Given the description of an element on the screen output the (x, y) to click on. 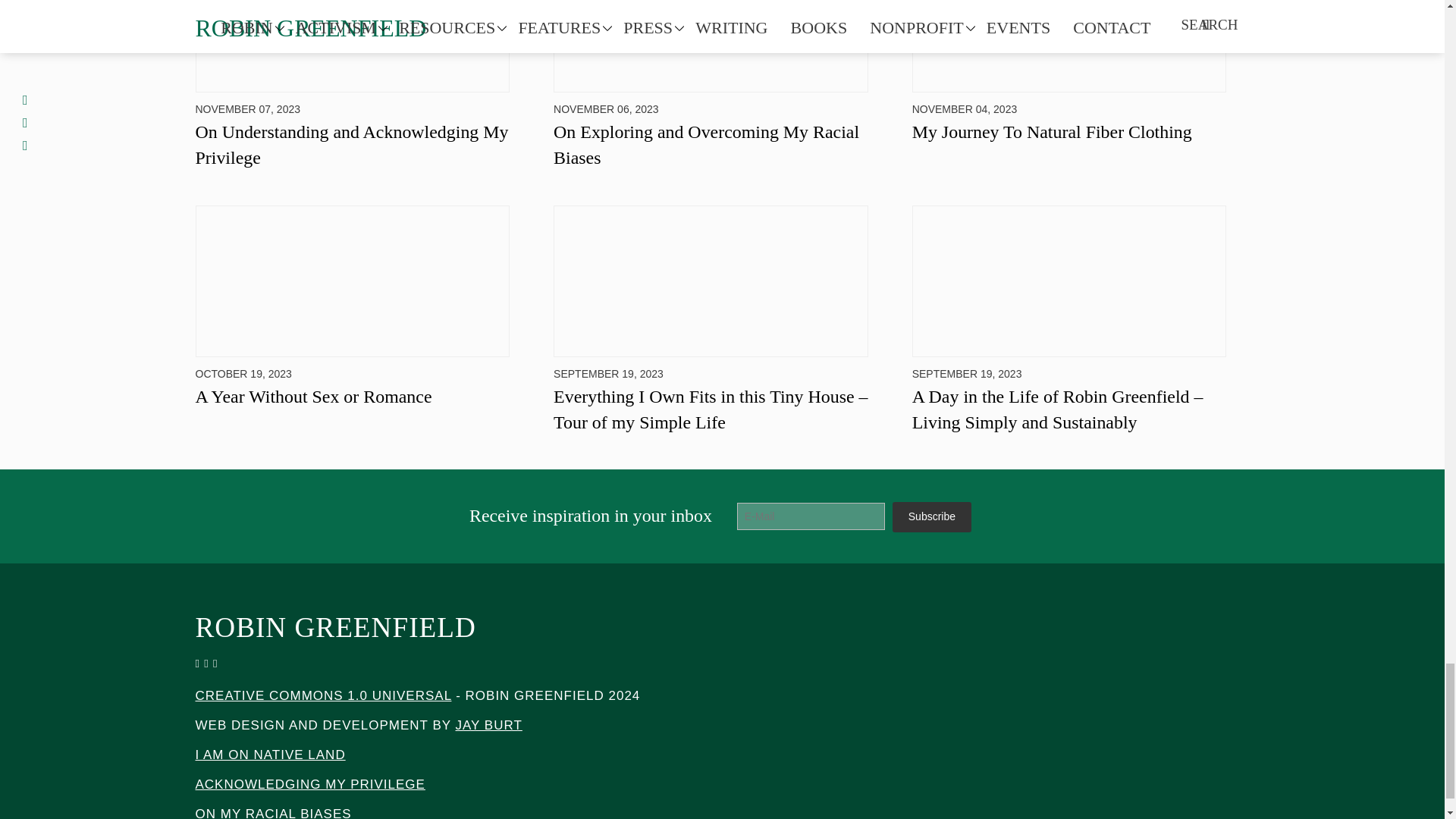
Subscribe (931, 517)
